Given the description of an element on the screen output the (x, y) to click on. 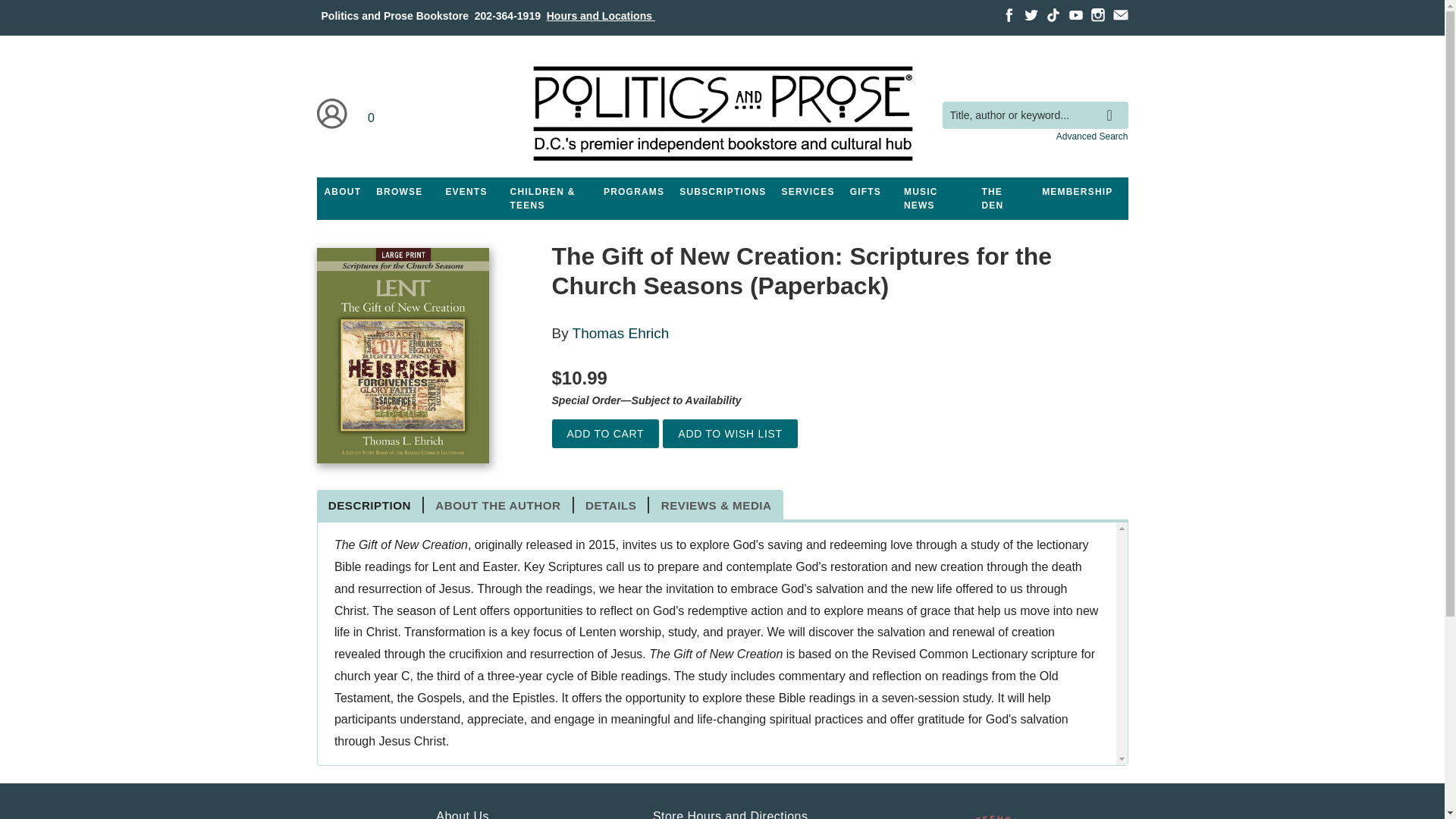
ABOUT (343, 191)
Add to Wish List (729, 433)
See information about our programs (633, 191)
PROGRAMS (633, 191)
Add to Cart (605, 433)
SUBSCRIPTIONS (722, 191)
Advanced Search (1092, 136)
search (1112, 103)
search (1112, 103)
